Given the description of an element on the screen output the (x, y) to click on. 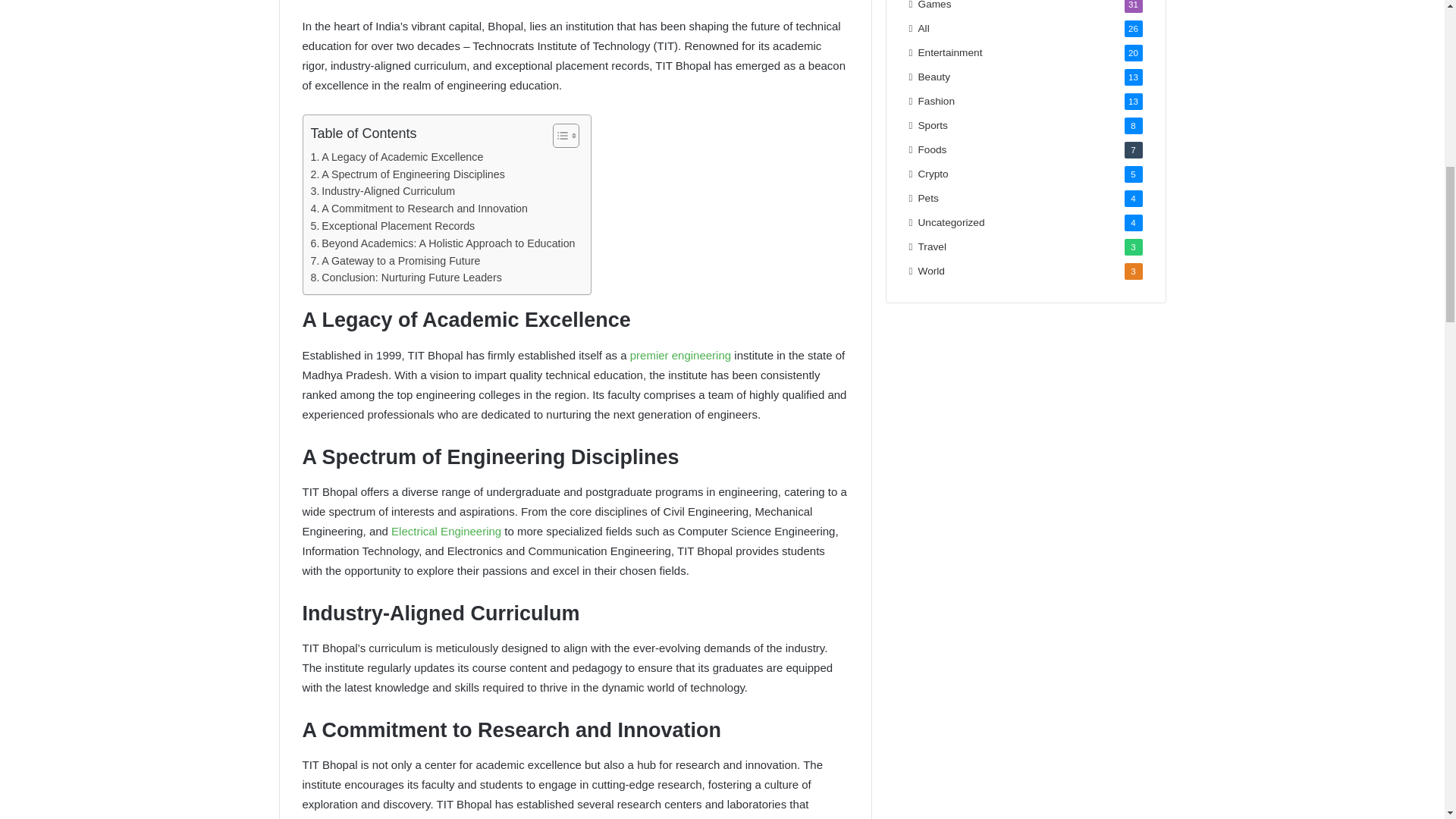
A Legacy of Academic Excellence (397, 157)
Industry-Aligned Curriculum (383, 190)
premier engineering (680, 354)
Exceptional Placement Records (393, 226)
A Spectrum of Engineering Disciplines (408, 174)
A Spectrum of Engineering Disciplines (408, 174)
Beyond Academics: A Holistic Approach to Education (443, 243)
A Legacy of Academic Excellence (397, 157)
A Commitment to Research and Innovation (419, 208)
Beyond Academics: A Holistic Approach to Education (443, 243)
